Given the description of an element on the screen output the (x, y) to click on. 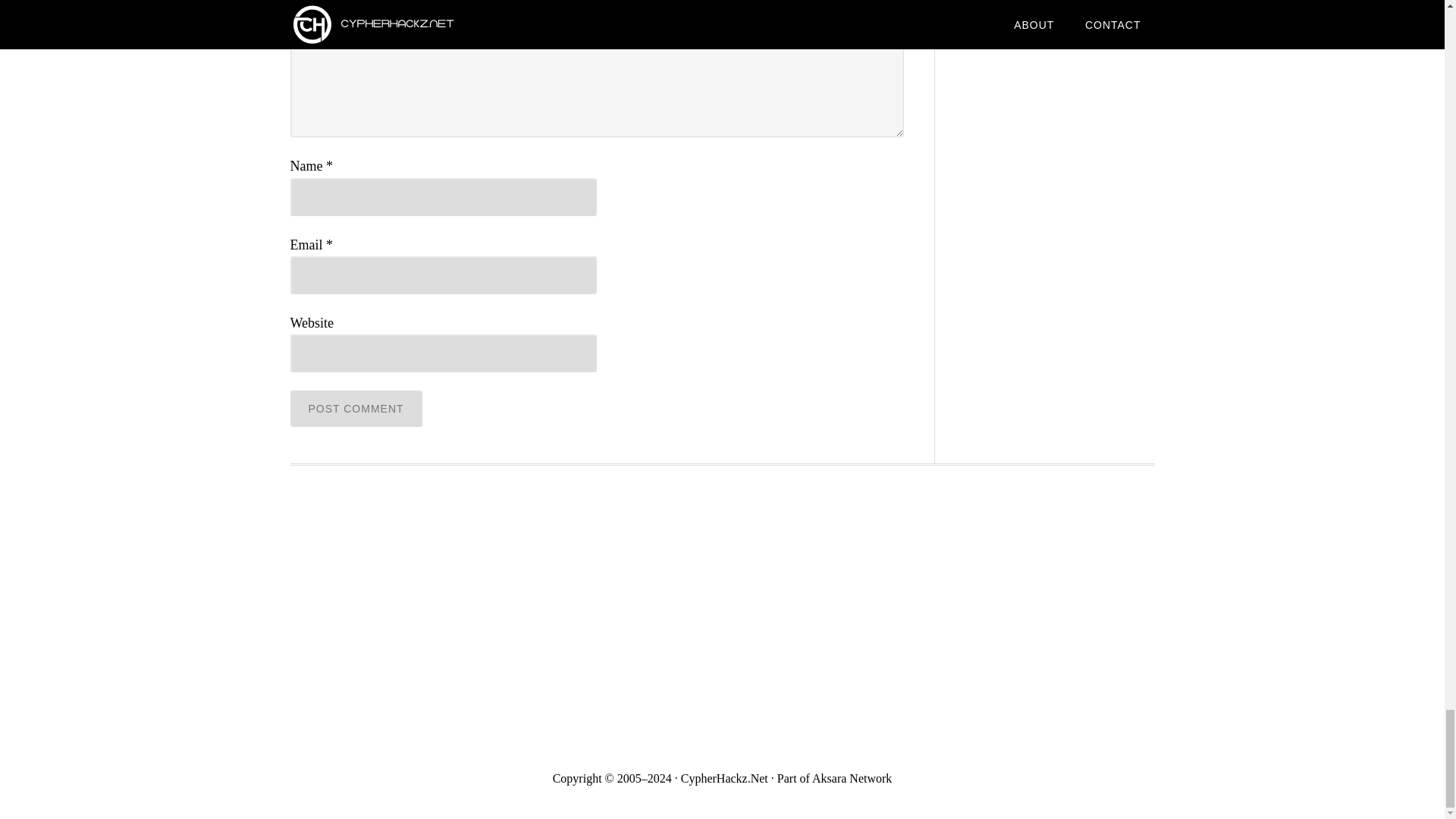
Post Comment (355, 408)
